Given the description of an element on the screen output the (x, y) to click on. 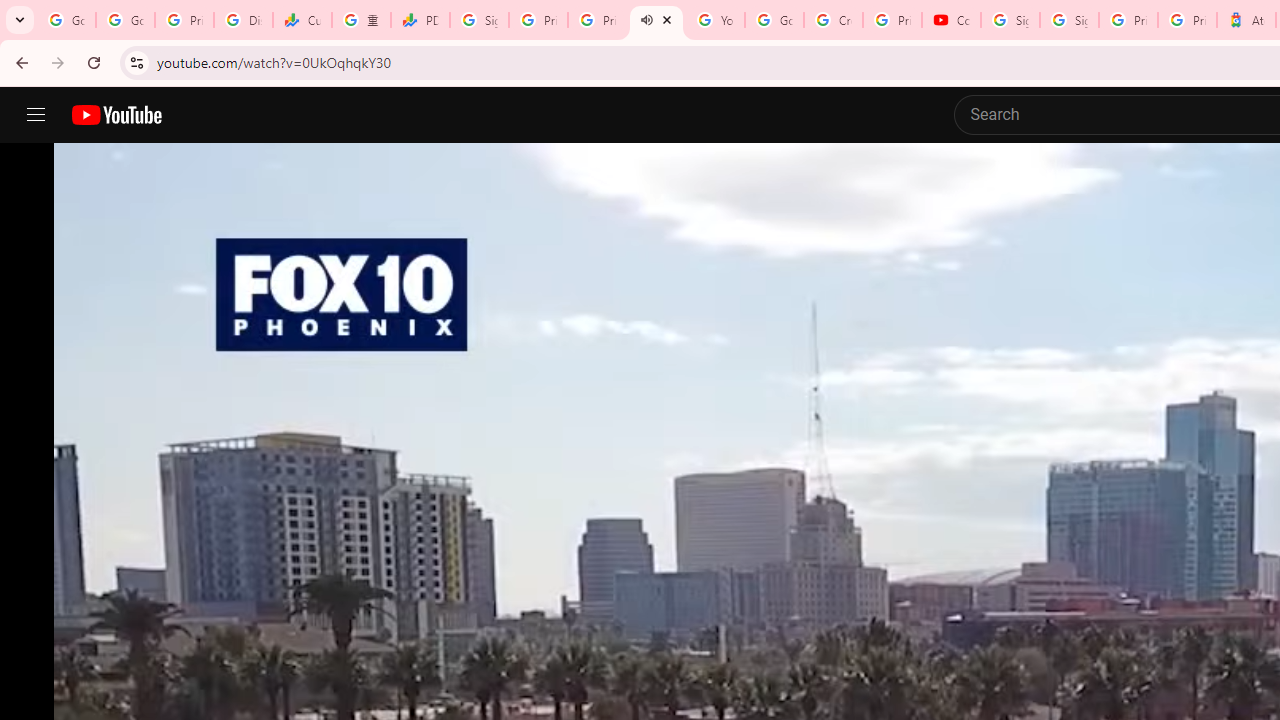
YouTube (715, 20)
Google Workspace Admin Community (66, 20)
PDD Holdings Inc - ADR (PDD) Price & News - Google Finance (420, 20)
YouTube Home (116, 115)
Sign in - Google Accounts (1069, 20)
Create your Google Account (832, 20)
Privacy Checkup (597, 20)
